Given the description of an element on the screen output the (x, y) to click on. 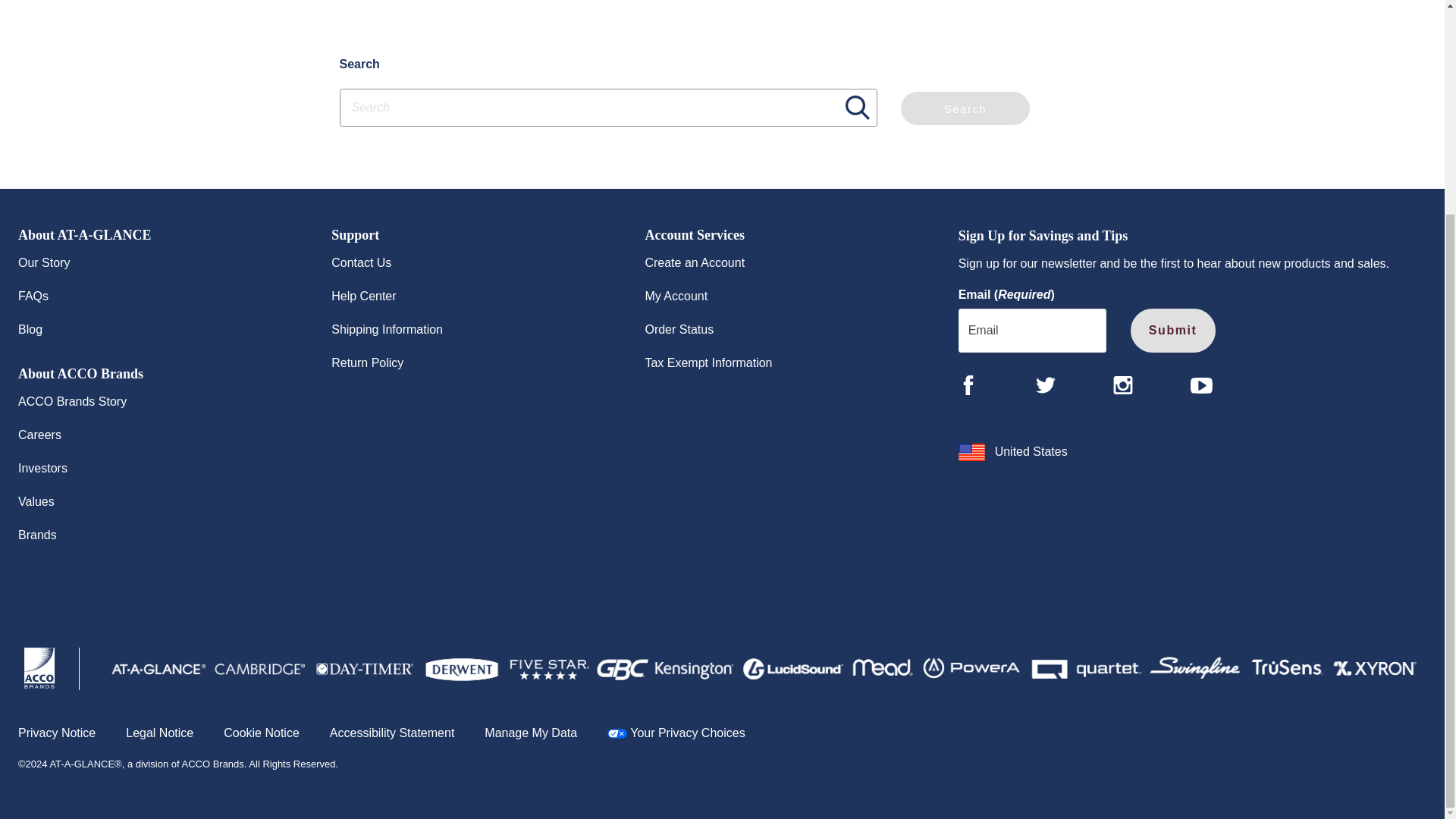
Like us on Facebook (968, 384)
Follow us on Instagram (1122, 384)
Find us on YouTube (1201, 385)
Connect with us on Twitter (1045, 384)
